Given the description of an element on the screen output the (x, y) to click on. 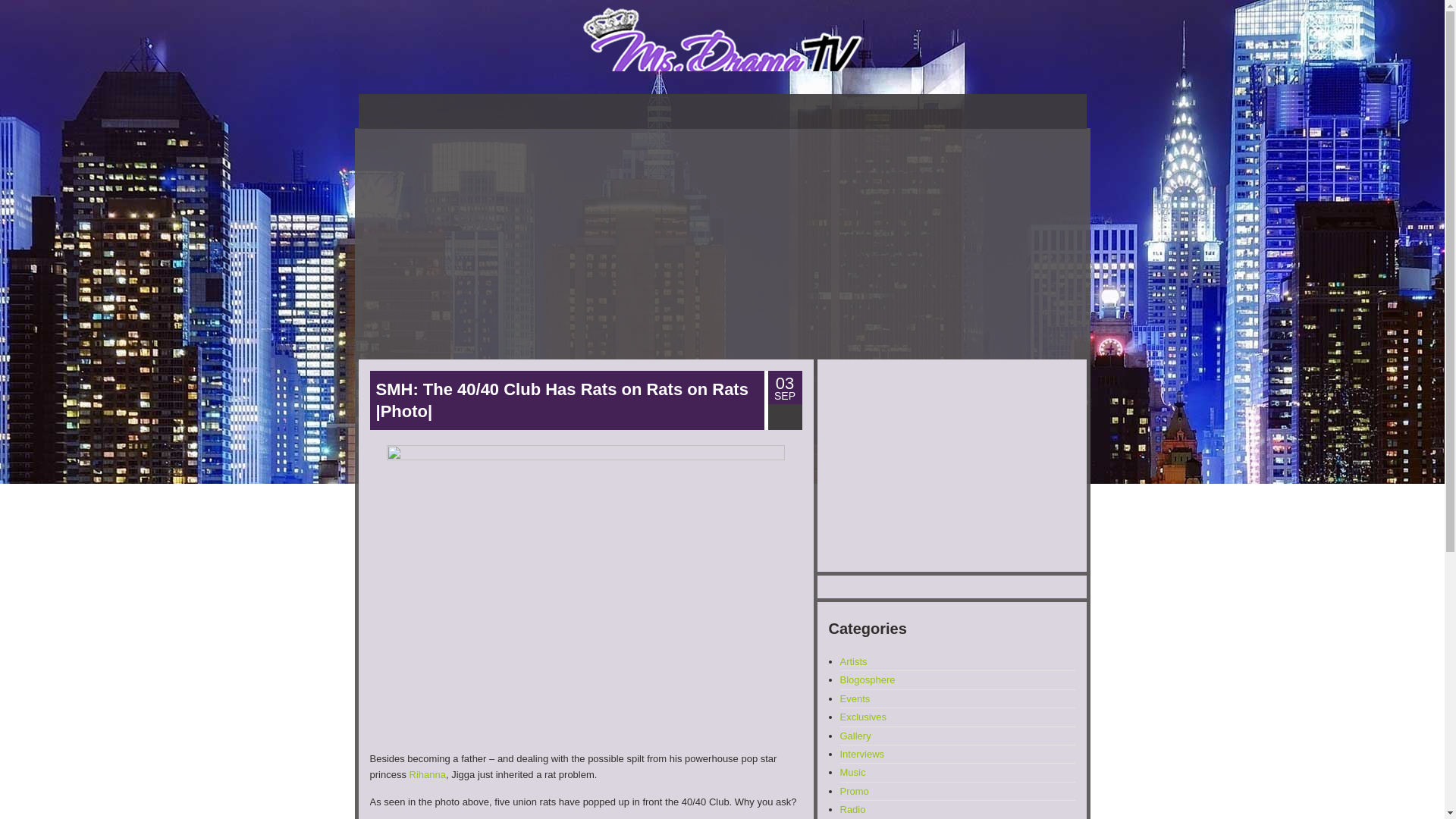
Blogosphere (867, 679)
Rihanna (427, 774)
rat4040 (585, 592)
Interviews (862, 754)
Promo (854, 790)
Gallery (855, 736)
Music (853, 772)
Radio (853, 808)
Events (855, 698)
Artists (853, 661)
